Given the description of an element on the screen output the (x, y) to click on. 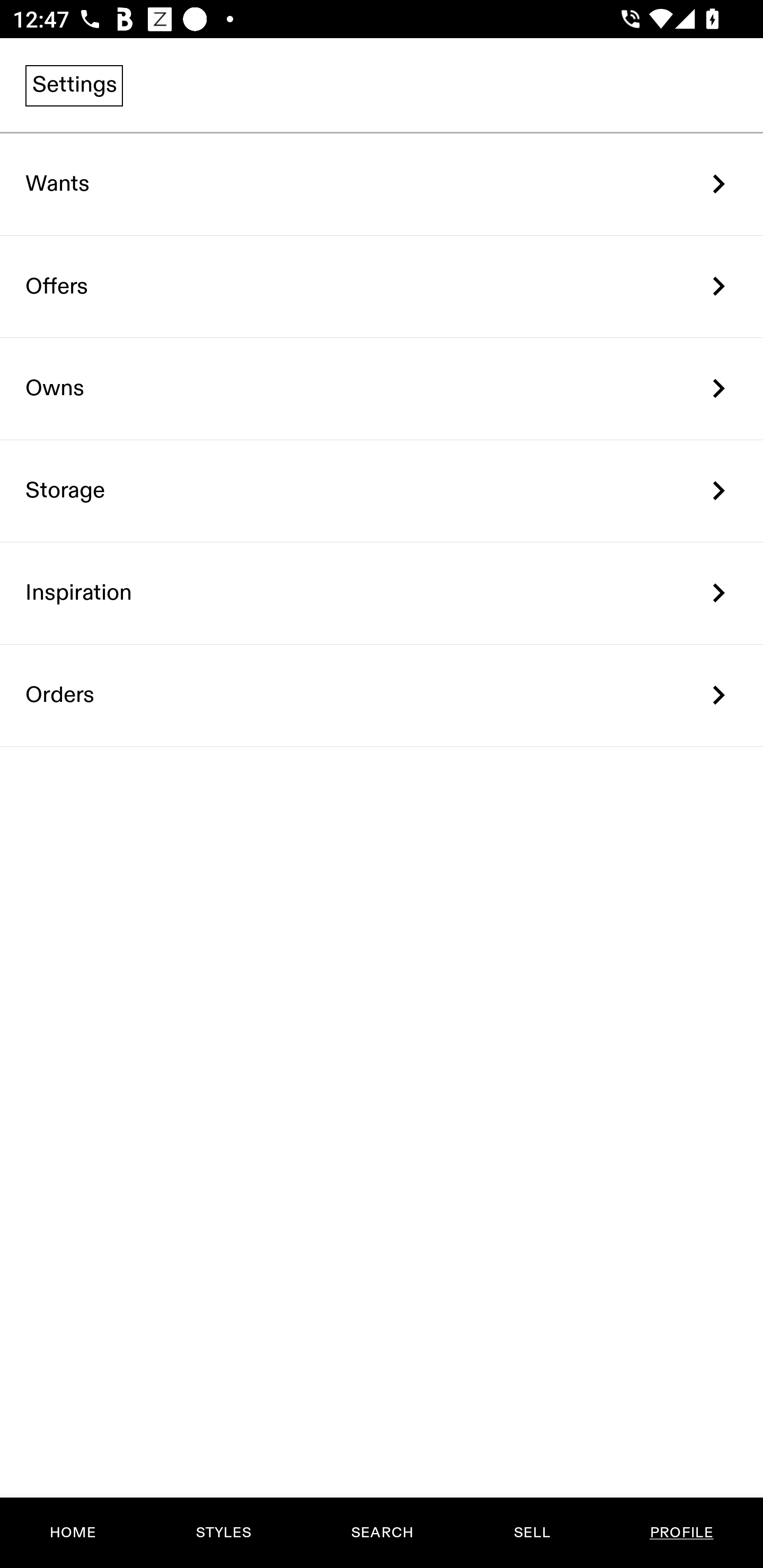
Settings (73, 85)
Wants (381, 184)
Offers (381, 286)
Owns (381, 388)
Storage (381, 491)
Inspiration (381, 593)
Orders (381, 695)
HOME (72, 1532)
STYLES (222, 1532)
SEARCH (381, 1532)
SELL (531, 1532)
PROFILE (681, 1532)
